Given the description of an element on the screen output the (x, y) to click on. 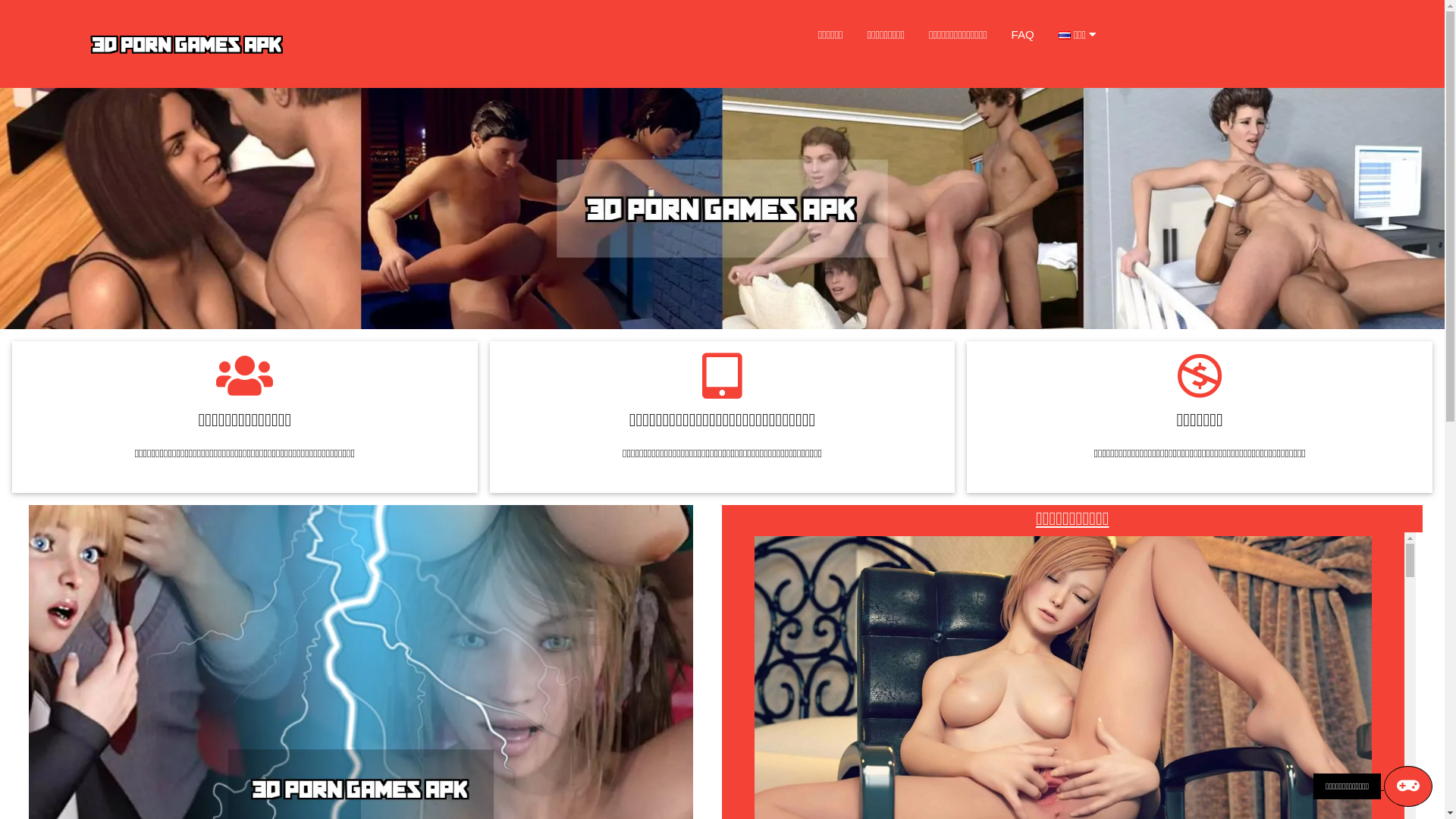
FAQ Element type: text (1022, 35)
